Given the description of an element on the screen output the (x, y) to click on. 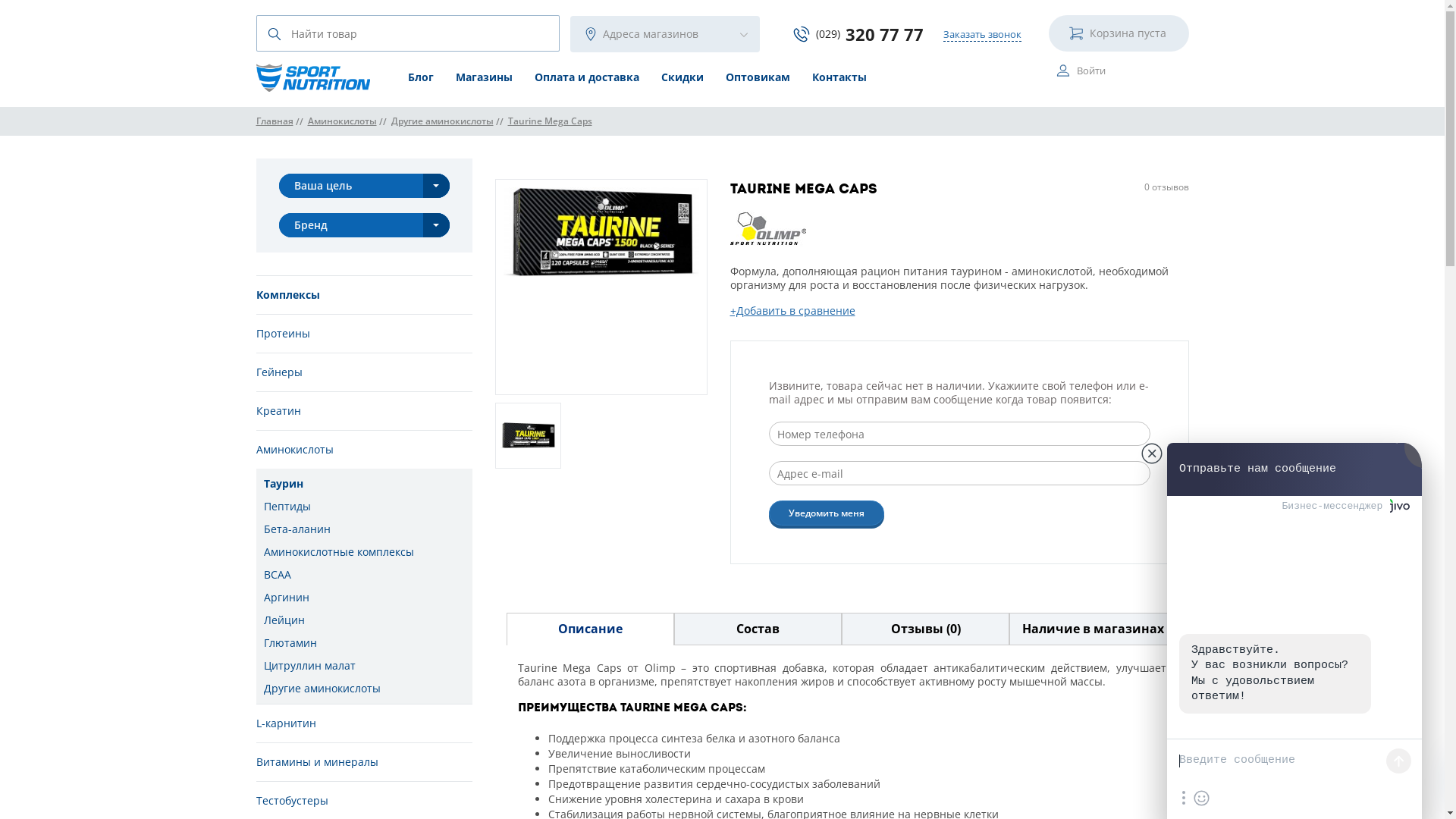
Taurine Mega Caps Element type: text (550, 120)
BCAA Element type: text (364, 574)
(029)
320 77 77 Element type: text (858, 33)
